Given the description of an element on the screen output the (x, y) to click on. 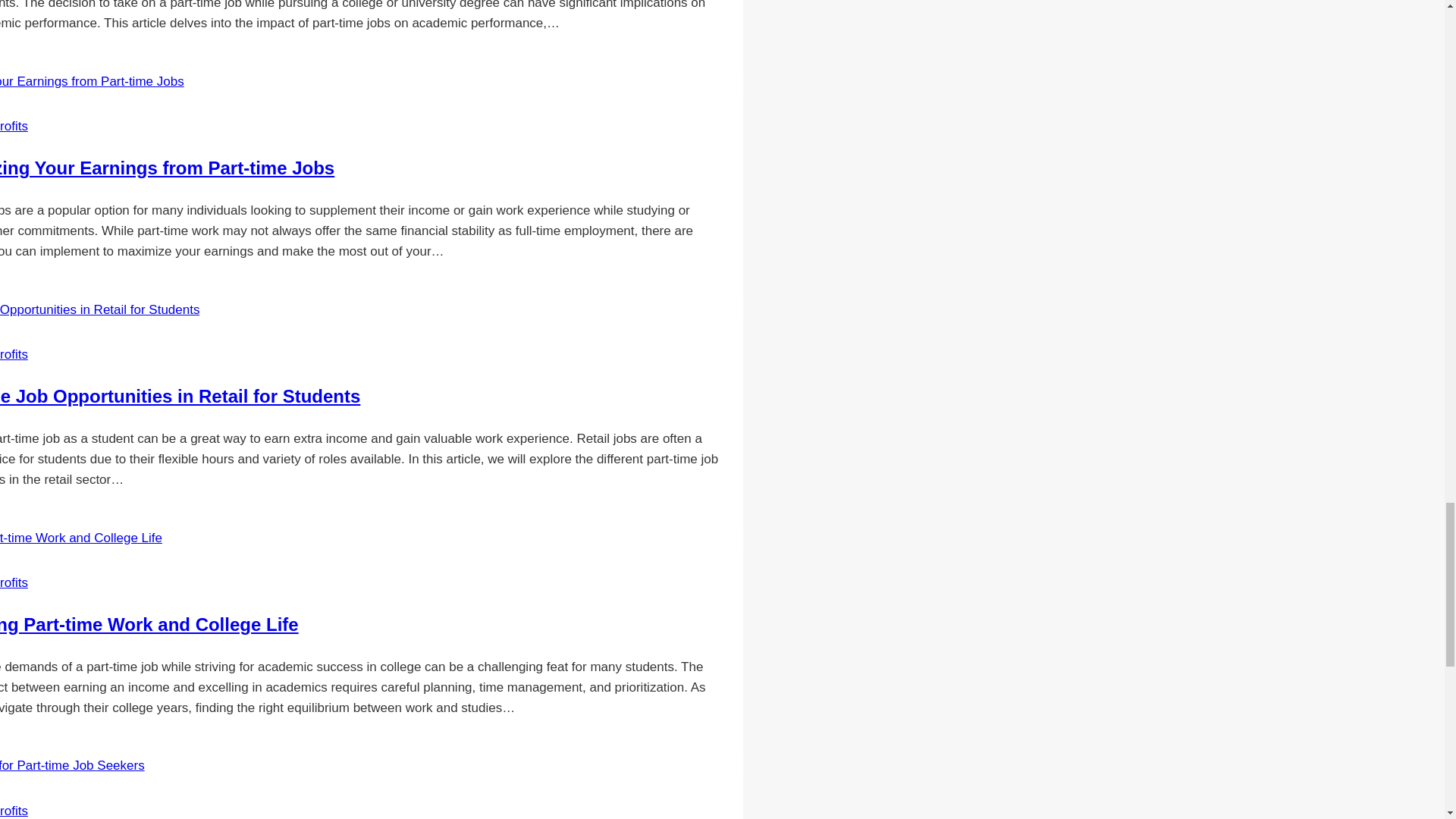
Part-Time Profits (13, 810)
Maximizing Your Earnings from Part-time Jobs (167, 168)
Part-Time Profits (13, 354)
Part-time Job Opportunities in Retail for Students (179, 395)
Part-Time Profits (13, 125)
Part-Time Profits (13, 582)
Balancing Part-time Work and College Life (149, 624)
